Given the description of an element on the screen output the (x, y) to click on. 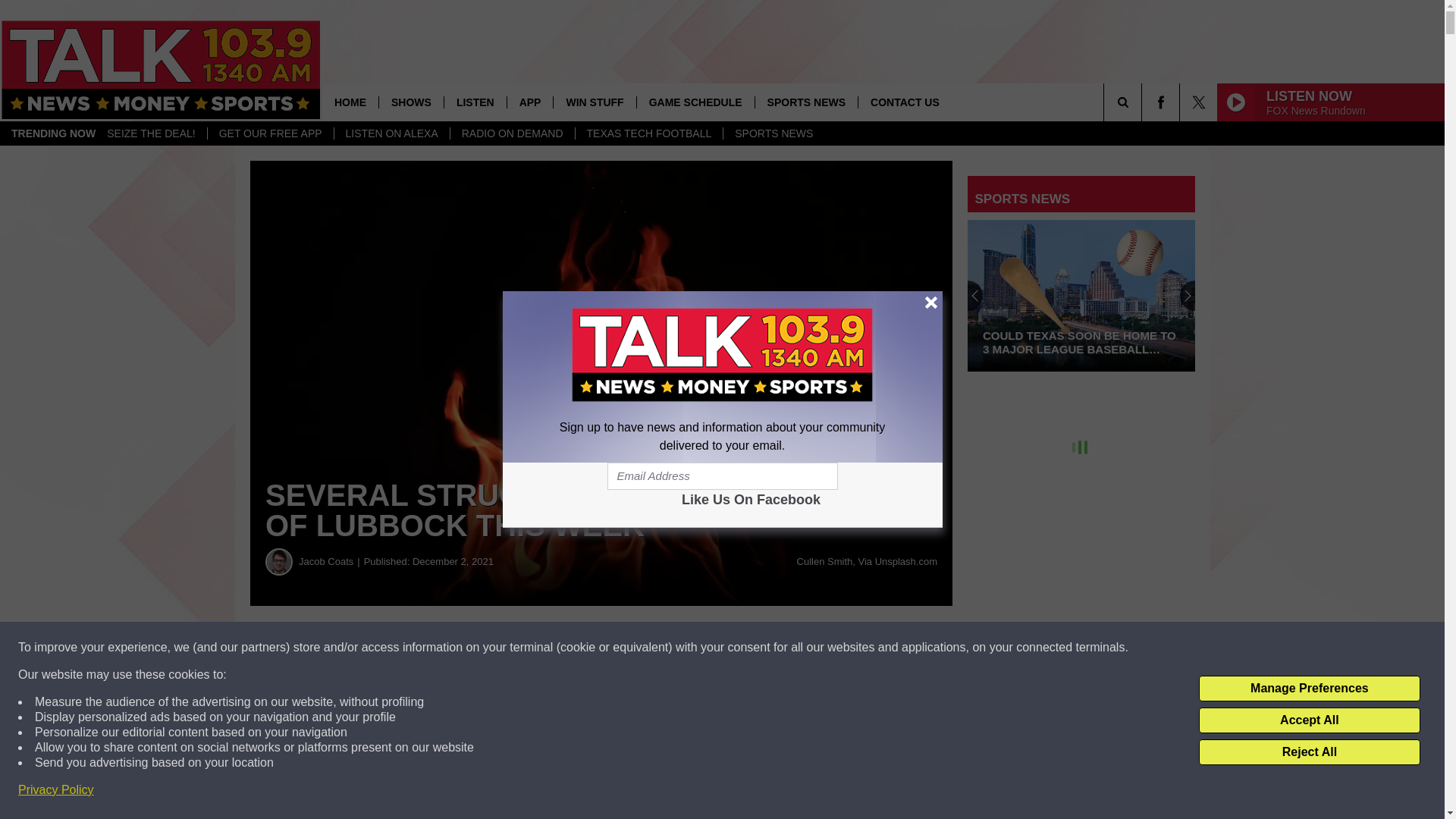
WIN STUFF (593, 102)
SEARCH (1144, 102)
Share on Facebook (460, 647)
GAME SCHEDULE (695, 102)
Privacy Policy (55, 789)
SPORTS NEWS (805, 102)
SPORTS NEWS (773, 133)
CONTACT US (904, 102)
Manage Preferences (1309, 688)
LISTEN (475, 102)
LISTEN ON ALEXA (391, 133)
APP (529, 102)
Share on Twitter (741, 647)
SEIZE THE DEAL! (151, 133)
RADIO ON DEMAND (512, 133)
